Given the description of an element on the screen output the (x, y) to click on. 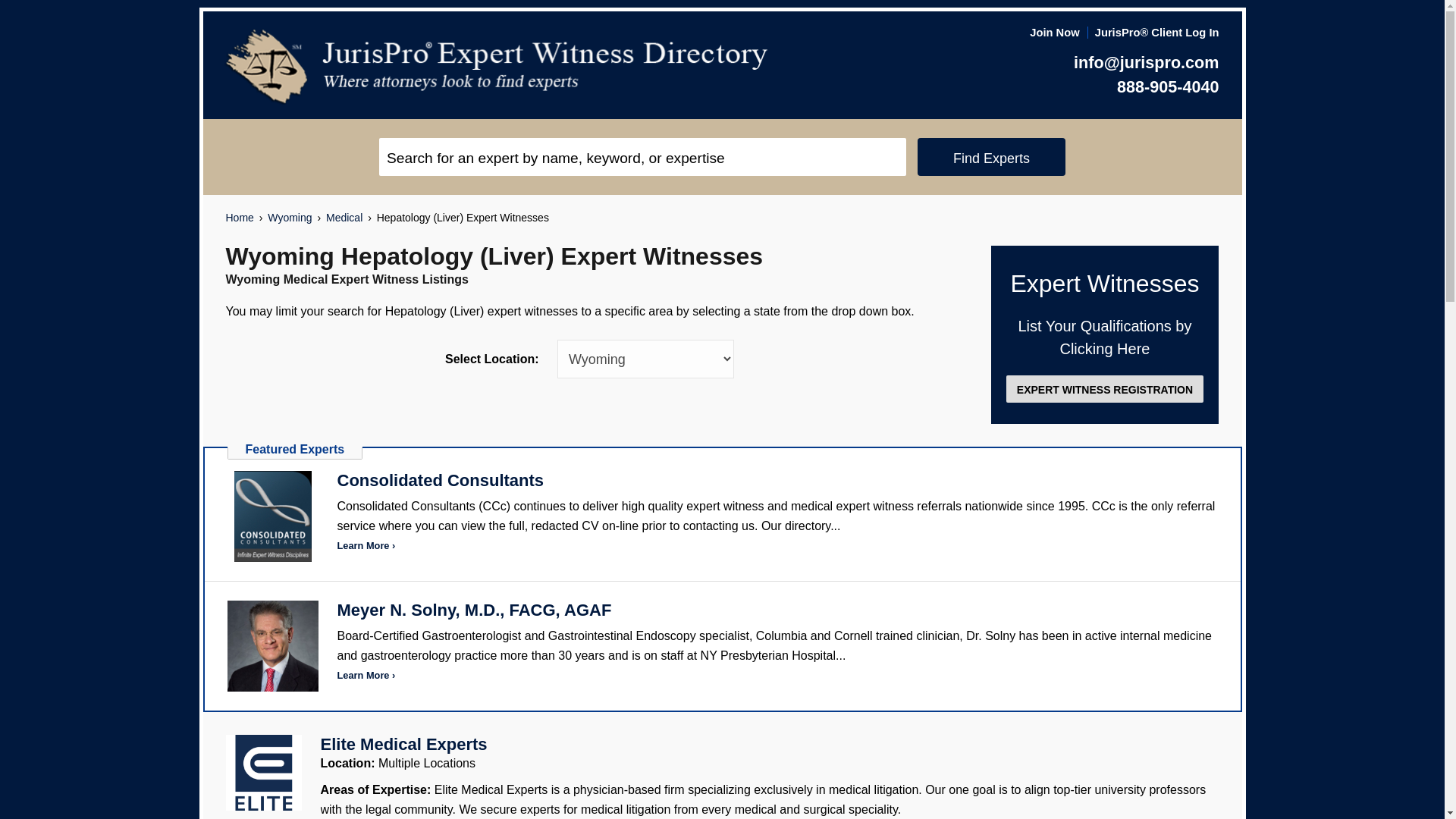
Home (239, 217)
Search (641, 157)
Find Experts (991, 157)
Meyer N. Solny, M.D., FACG, AGAF (473, 609)
Wyoming (289, 217)
Join Now (1053, 32)
Meyer N. Solny, M.D., FACG, AGAF (473, 609)
JurisPro Expert Witness Directory (497, 66)
EXPERT WITNESS REGISTRATION (1105, 388)
Consolidated Consultants (439, 479)
Consolidated Consultants (272, 515)
Consolidated Consultants (439, 479)
Medical (344, 217)
Elite Medical Experts (403, 743)
